Given the description of an element on the screen output the (x, y) to click on. 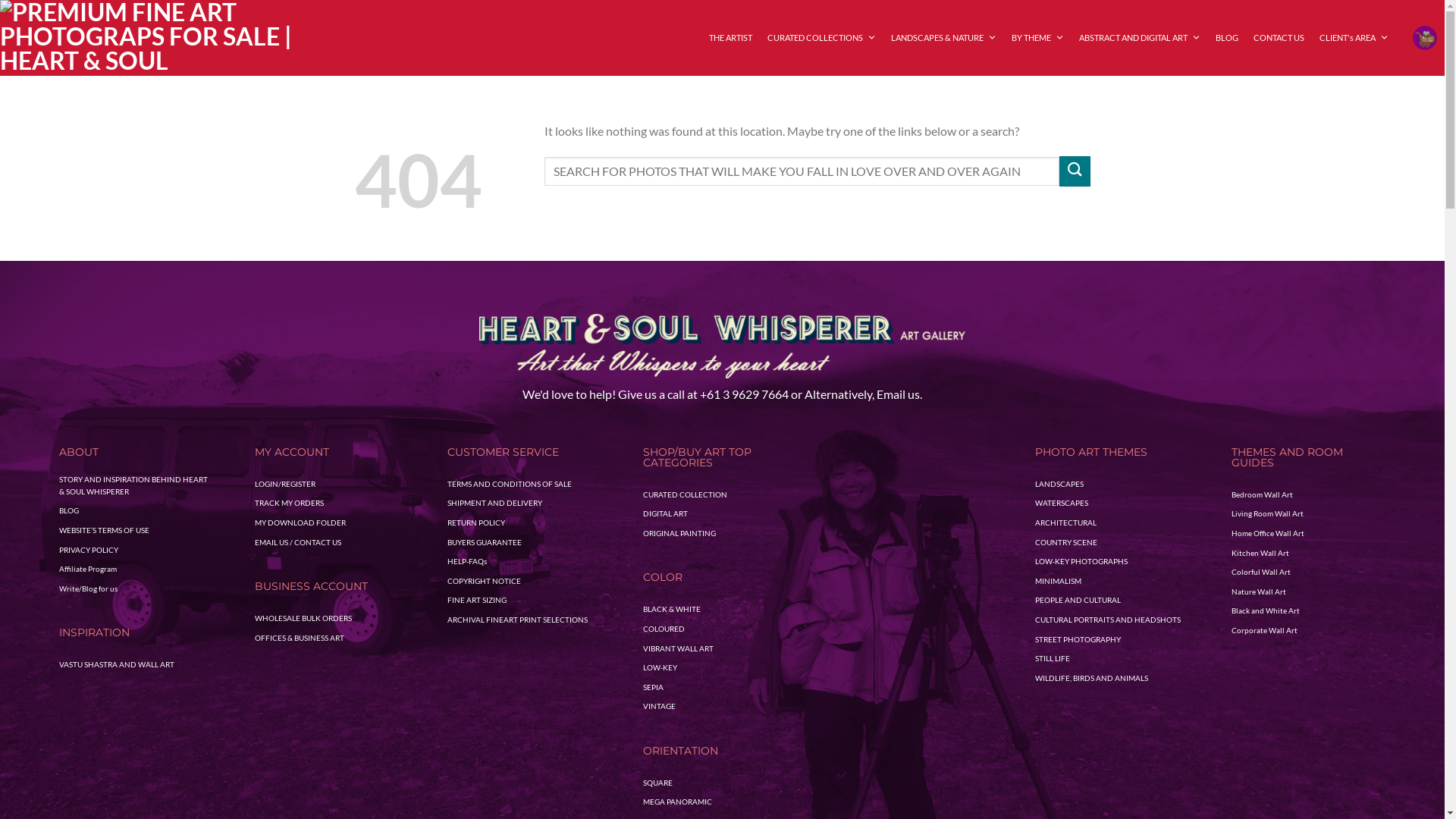
TRACK MY ORDERS Element type: text (288, 502)
STREET PHOTOGRAPHY Element type: text (1077, 638)
MY DOWNLOAD FOLDER Element type: text (299, 522)
STORY AND INSPIRATION BEHIND HEART & SOUL WHISPERER Element type: text (134, 485)
Home Office Wall Art Element type: text (1267, 532)
BLOG Element type: text (68, 509)
FINE ART SIZING Element type: text (476, 599)
Corporate Wall Art Element type: text (1264, 629)
LOW-KEY PHOTOGRAPHS Element type: text (1081, 560)
VINTAGE Element type: text (659, 705)
WILDLIFE, BIRDS AND ANIMALS Element type: text (1091, 677)
SEPIA Element type: text (653, 686)
CULTURAL PORTRAITS AND HEADSHOTS Element type: text (1107, 619)
ORIGINAL PAINTING Element type: text (679, 532)
RETURN POLICY Element type: text (476, 522)
MINIMALISM Element type: text (1058, 580)
VIBRANT WALL ART Element type: text (678, 647)
LANDSCAPES & NATURE Element type: text (943, 37)
Write/Blog for us Element type: text (88, 588)
Affiliate Program Element type: text (87, 568)
DIGITAL ART Element type: text (665, 513)
Kitchen Wall Art Element type: text (1260, 552)
CURATED COLLECTION Element type: text (685, 494)
BUYERS GUARANTEE Element type: text (484, 541)
ABSTRACT AND DIGITAL ART Element type: text (1139, 37)
BY THEME Element type: text (1037, 37)
ARCHIVAL FINEART PRINT SELECTIONS Element type: text (517, 619)
EMAIL US / CONTACT US Element type: text (297, 541)
COUNTRY SCENE Element type: text (1066, 541)
THE ARTIST Element type: text (730, 37)
SQUARE Element type: text (657, 782)
WATERSCAPES Element type: text (1061, 502)
COLOURED Element type: text (663, 628)
Nature Wall Art Element type: text (1258, 591)
PEOPLE AND CULTURAL Element type: text (1077, 599)
LOGIN/REGISTER Element type: text (284, 483)
BLOG Element type: text (1226, 37)
WHOLESALE BULK ORDERS Element type: text (302, 617)
LOW-KEY Element type: text (660, 666)
Colorful Wall Art Element type: text (1260, 571)
CONTACT US Element type: text (1278, 37)
CURATED COLLECTIONS Element type: text (821, 37)
CLIENT's AREA Element type: text (1353, 37)
COPYRIGHT NOTICE Element type: text (483, 580)
Black and White Art Element type: text (1265, 610)
LANDSCAPES Element type: text (1059, 483)
STILL LIFE Element type: text (1052, 657)
Cart Element type: hover (1424, 37)
PRIVACY POLICY Element type: text (88, 549)
OFFICES & BUSINESS ART Element type: text (299, 637)
ARCHITECTURAL Element type: text (1065, 522)
HELP-FAQs Element type: text (466, 560)
Bedroom Wall Art Element type: text (1261, 494)
Living Room Wall Art Element type: text (1267, 513)
BLACK & WHITE Element type: text (671, 608)
SHIPMENT AND DELIVERY Element type: text (494, 502)
TERMS AND CONDITIONS OF SALE Element type: text (509, 483)
VASTU SHASTRA AND WALL ART Element type: text (116, 663)
MEGA PANORAMIC Element type: text (677, 801)
